Given the description of an element on the screen output the (x, y) to click on. 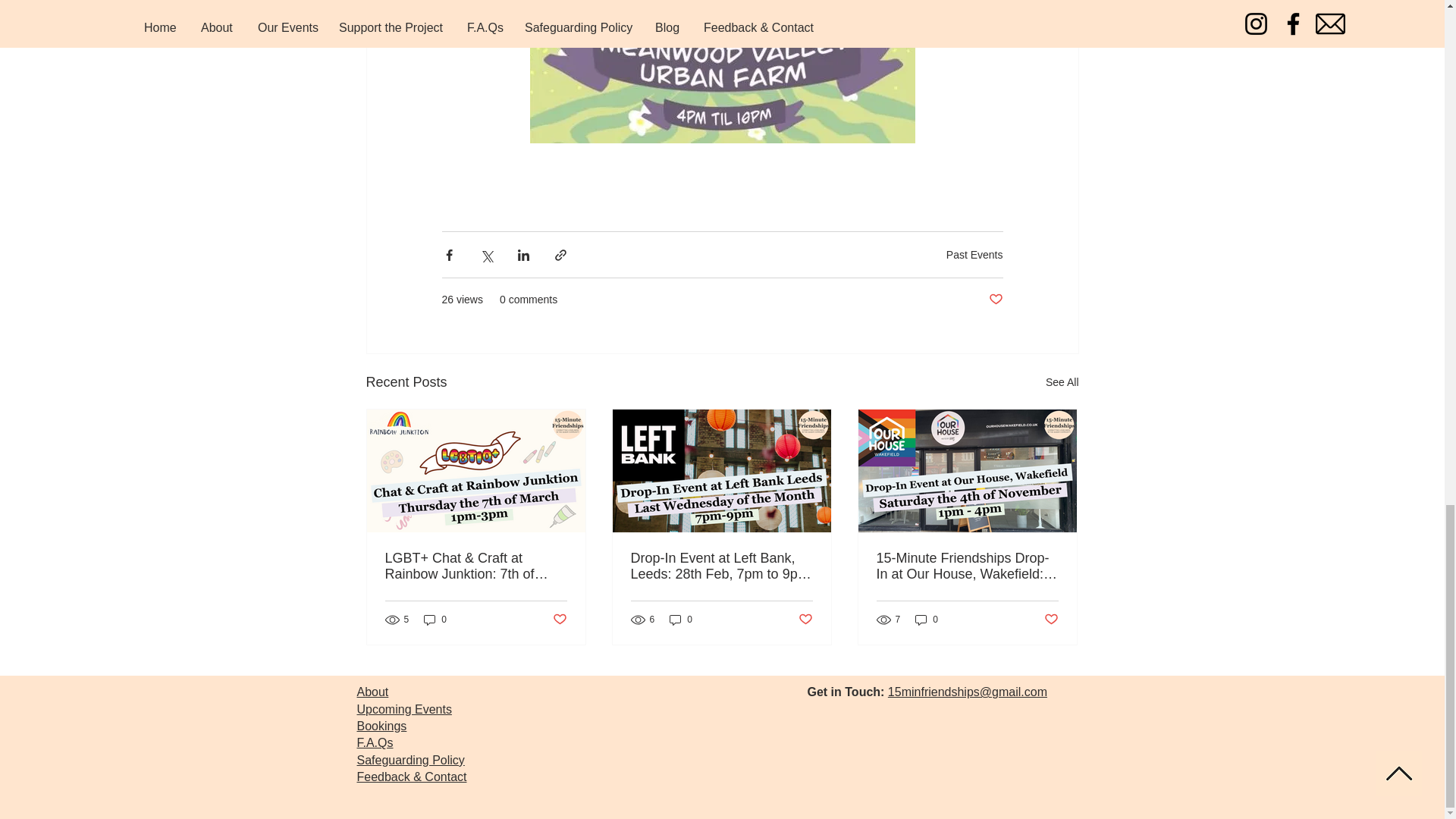
Past Events (974, 254)
Post not marked as liked (558, 619)
0 (926, 619)
0 (435, 619)
Post not marked as liked (995, 299)
About (372, 691)
Post not marked as liked (1050, 619)
See All (1061, 382)
0 (681, 619)
Post not marked as liked (804, 619)
